Given the description of an element on the screen output the (x, y) to click on. 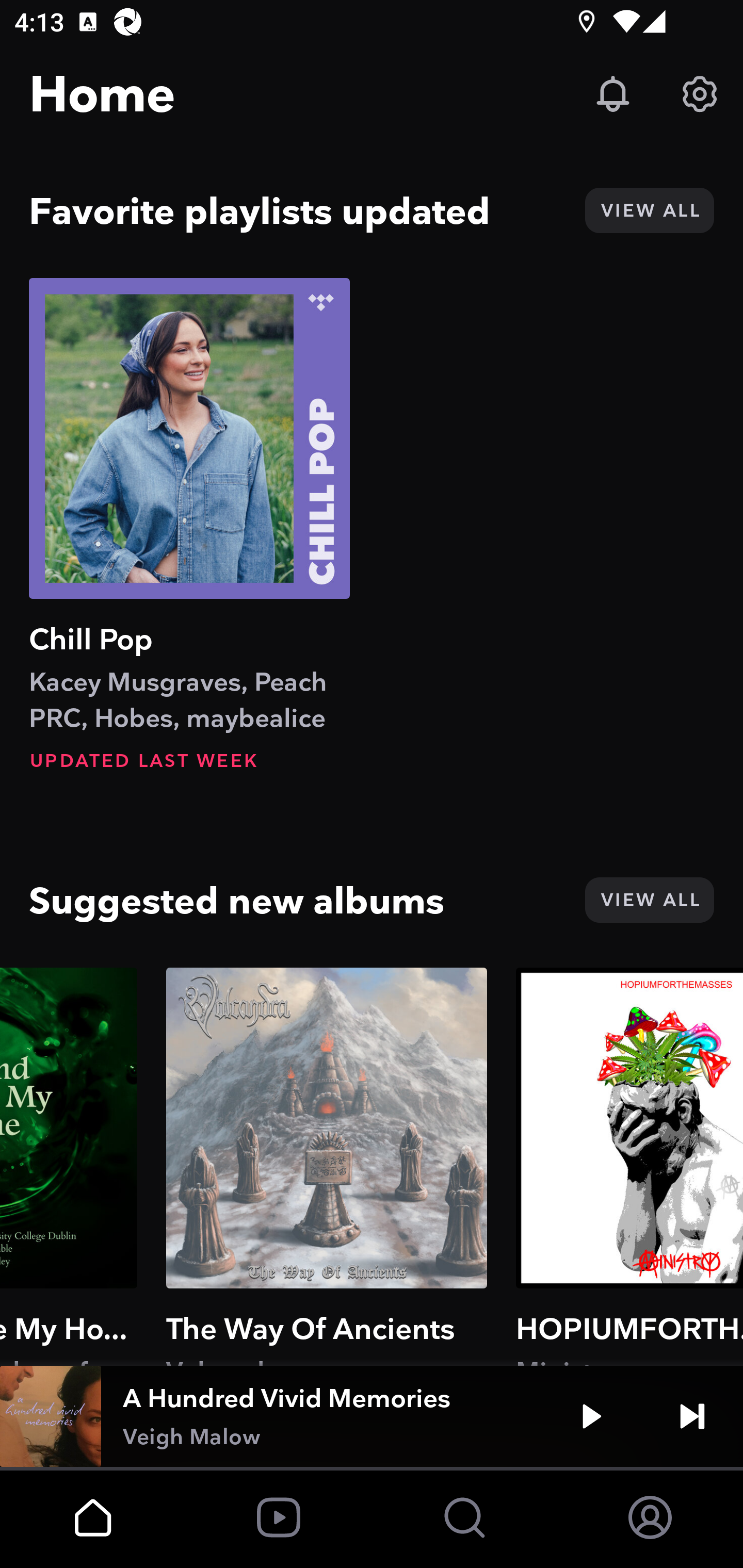
Updates (612, 93)
Settings (699, 93)
VIEW ALL (649, 210)
VIEW ALL (649, 899)
The Way Of Ancients Volcandra (326, 1166)
HOPIUMFORTHEMASSES Ministry (629, 1166)
A Hundred Vivid Memories Veigh Malow Play (371, 1416)
Play (590, 1416)
